Given the description of an element on the screen output the (x, y) to click on. 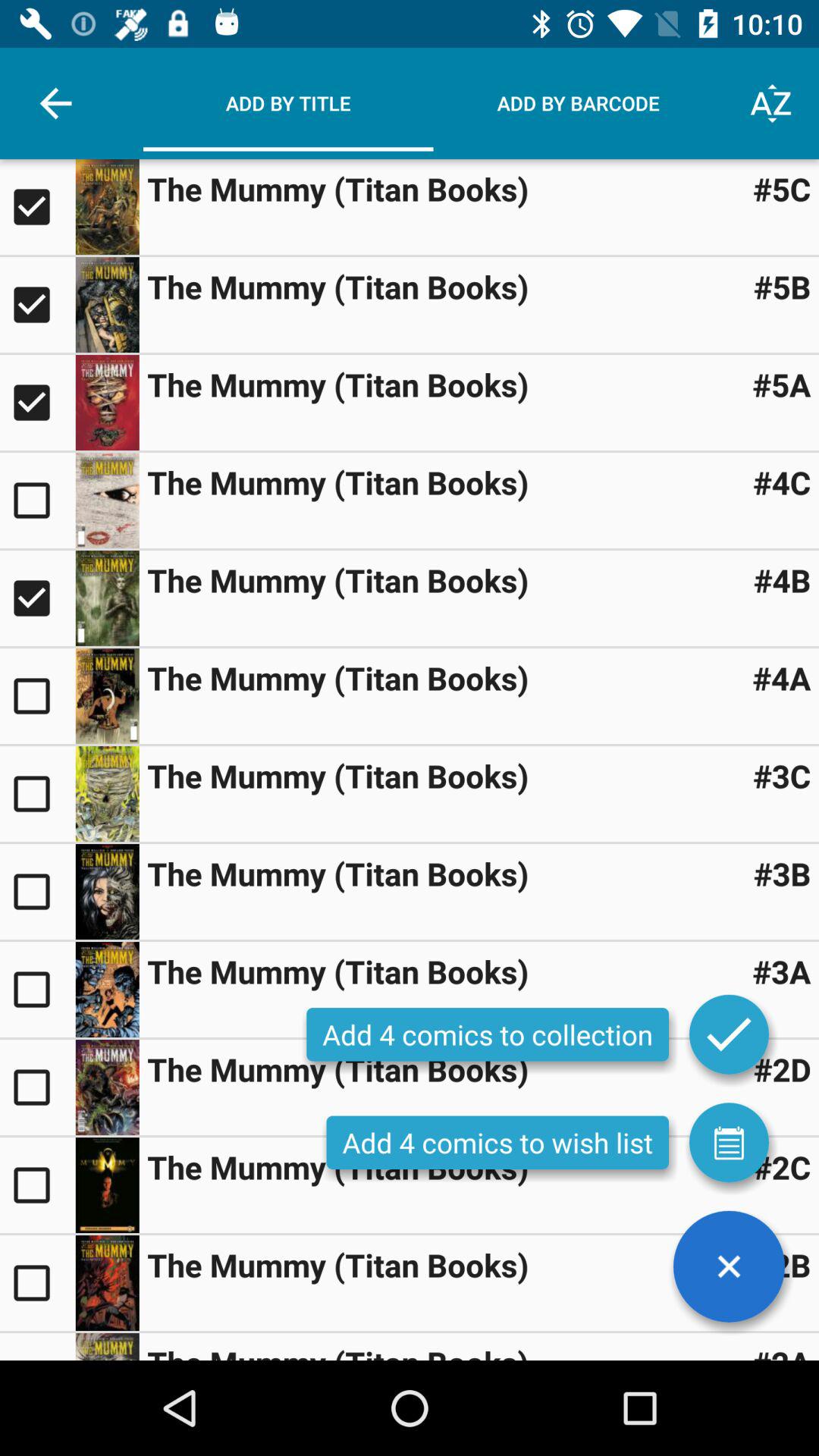
toggle select (37, 206)
